Given the description of an element on the screen output the (x, y) to click on. 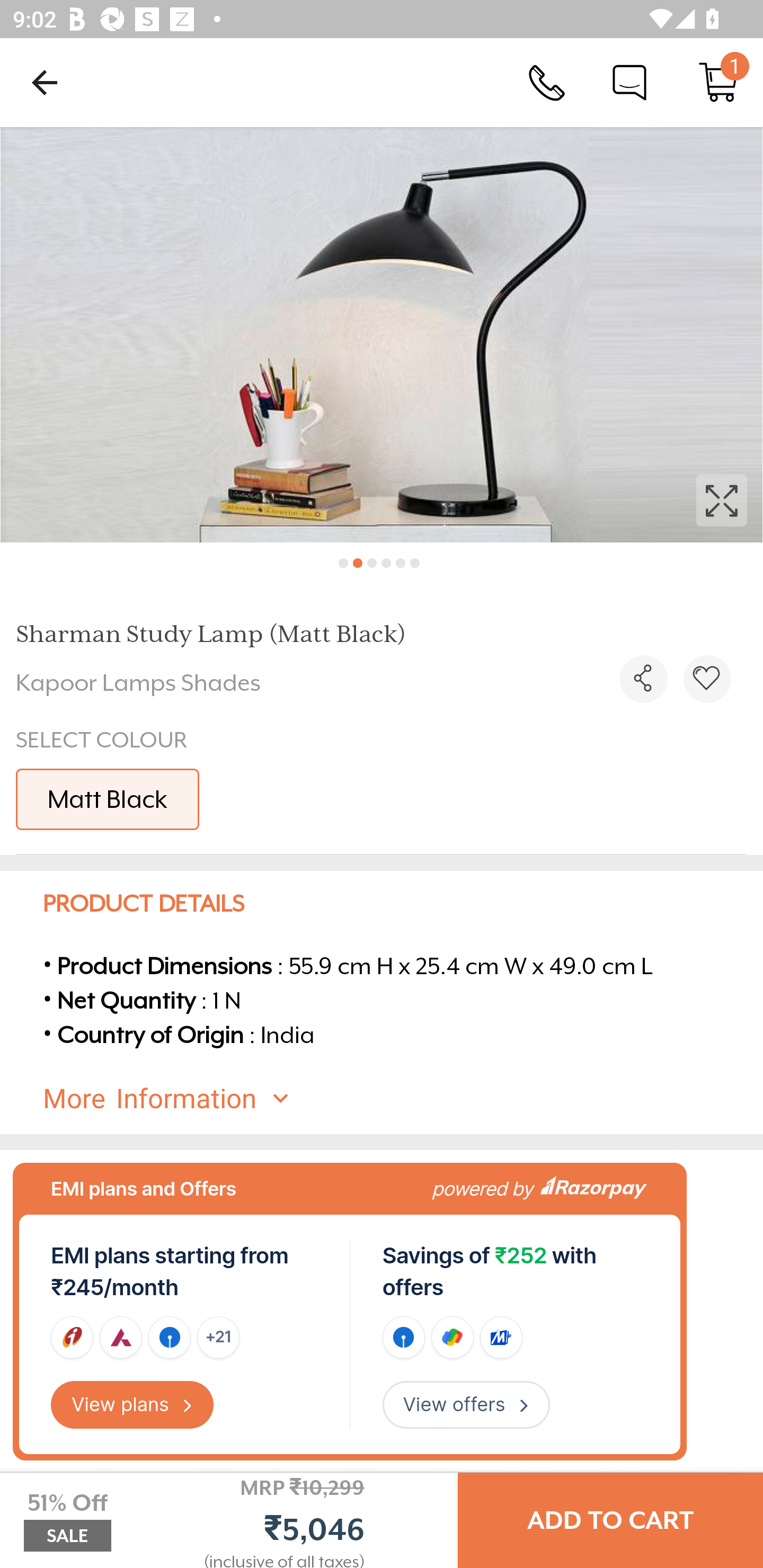
Navigate up (44, 82)
Call Us (546, 81)
Chat (629, 81)
Cart (718, 81)
 (381, 334)
 (643, 678)
 (706, 678)
Matt Black (107, 798)
More Information  (396, 1098)
View plans (132, 1404)
View offers (465, 1404)
ADD TO CART (610, 1520)
